Given the description of an element on the screen output the (x, y) to click on. 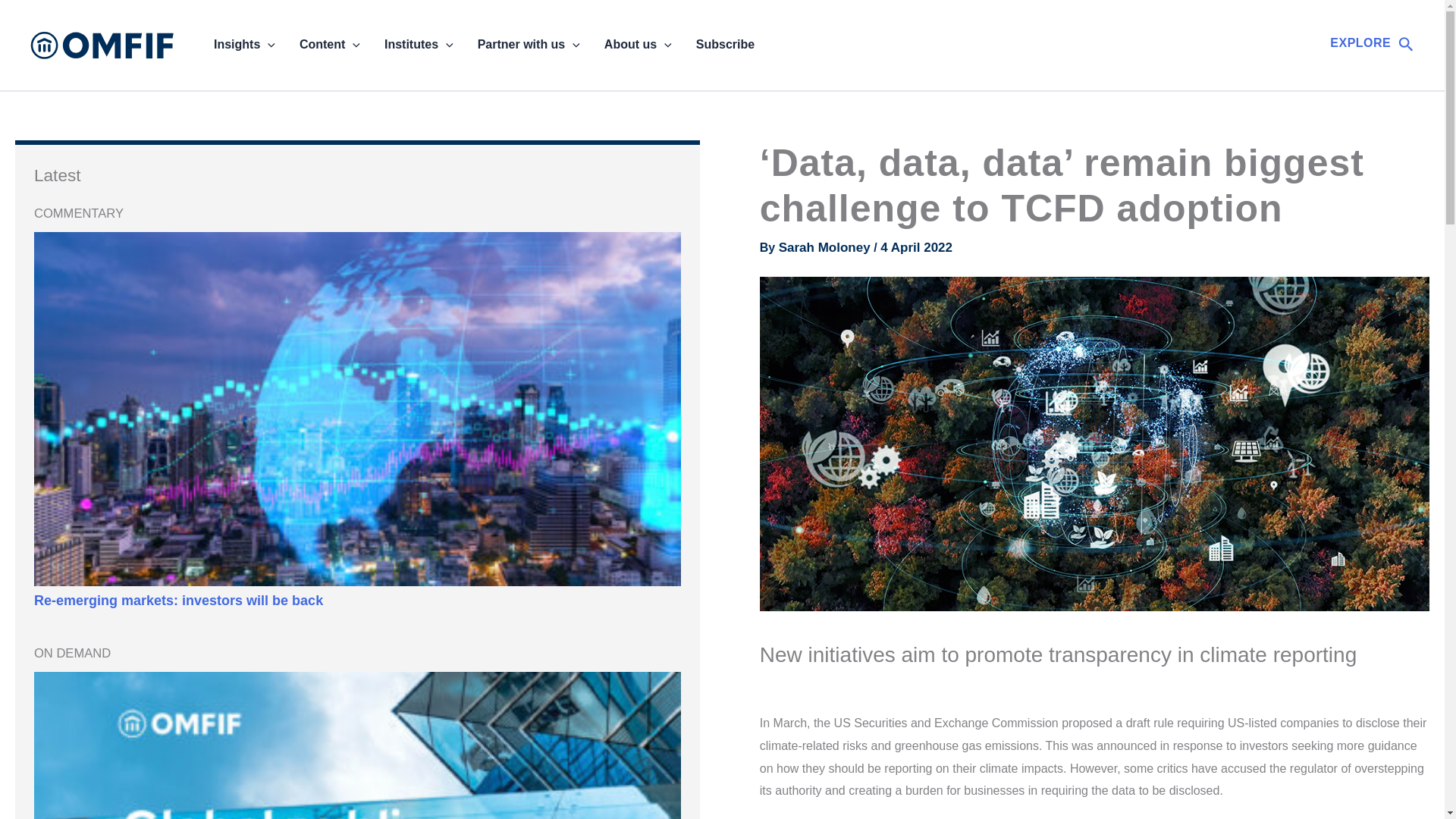
View all posts by Sarah Moloney (826, 247)
Insights (244, 44)
Partner with us (528, 44)
About us (638, 44)
Content (329, 44)
Institutes (418, 44)
